Given the description of an element on the screen output the (x, y) to click on. 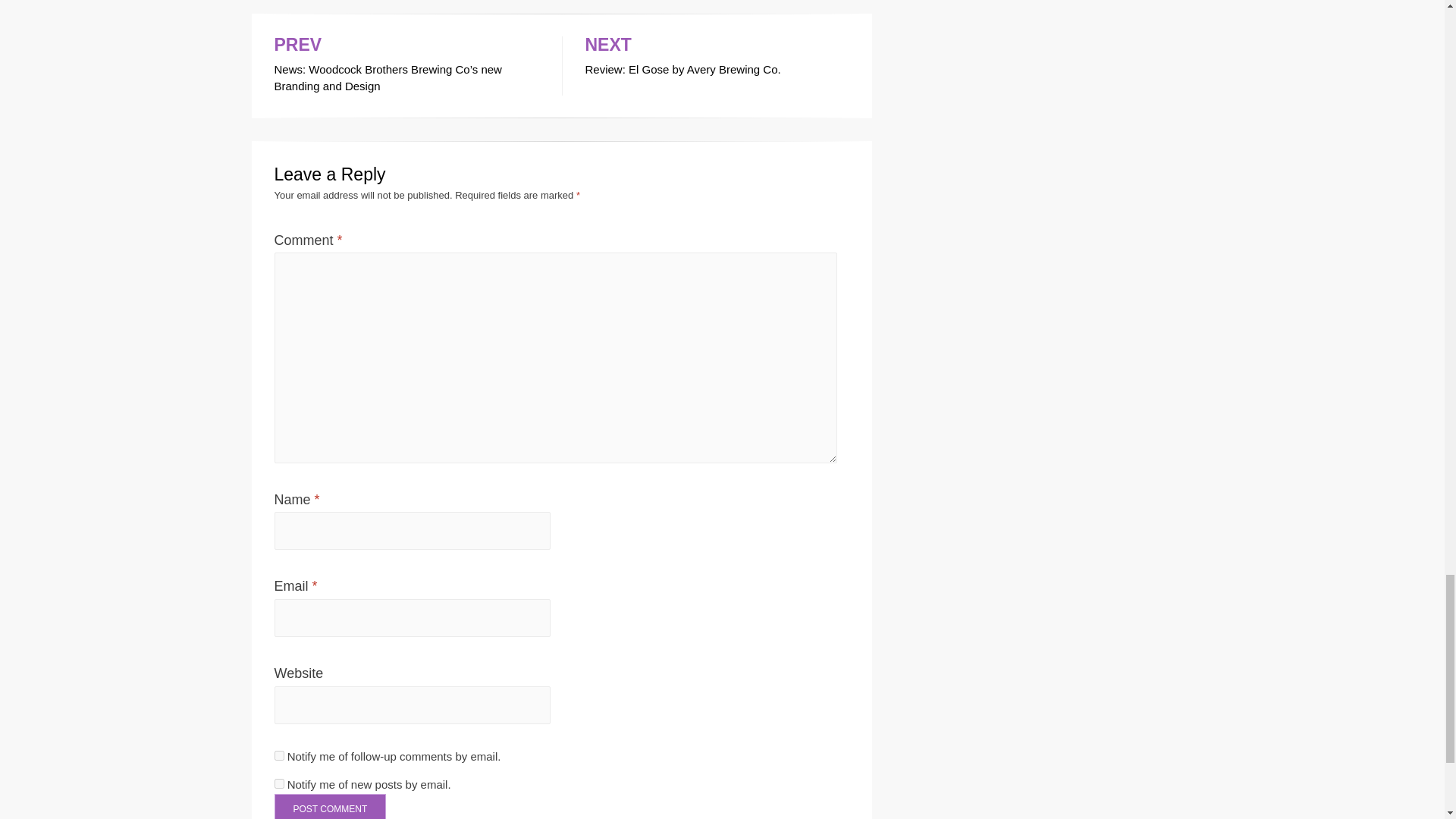
subscribe (279, 755)
subscribe (279, 783)
Post Comment (331, 806)
